Given the description of an element on the screen output the (x, y) to click on. 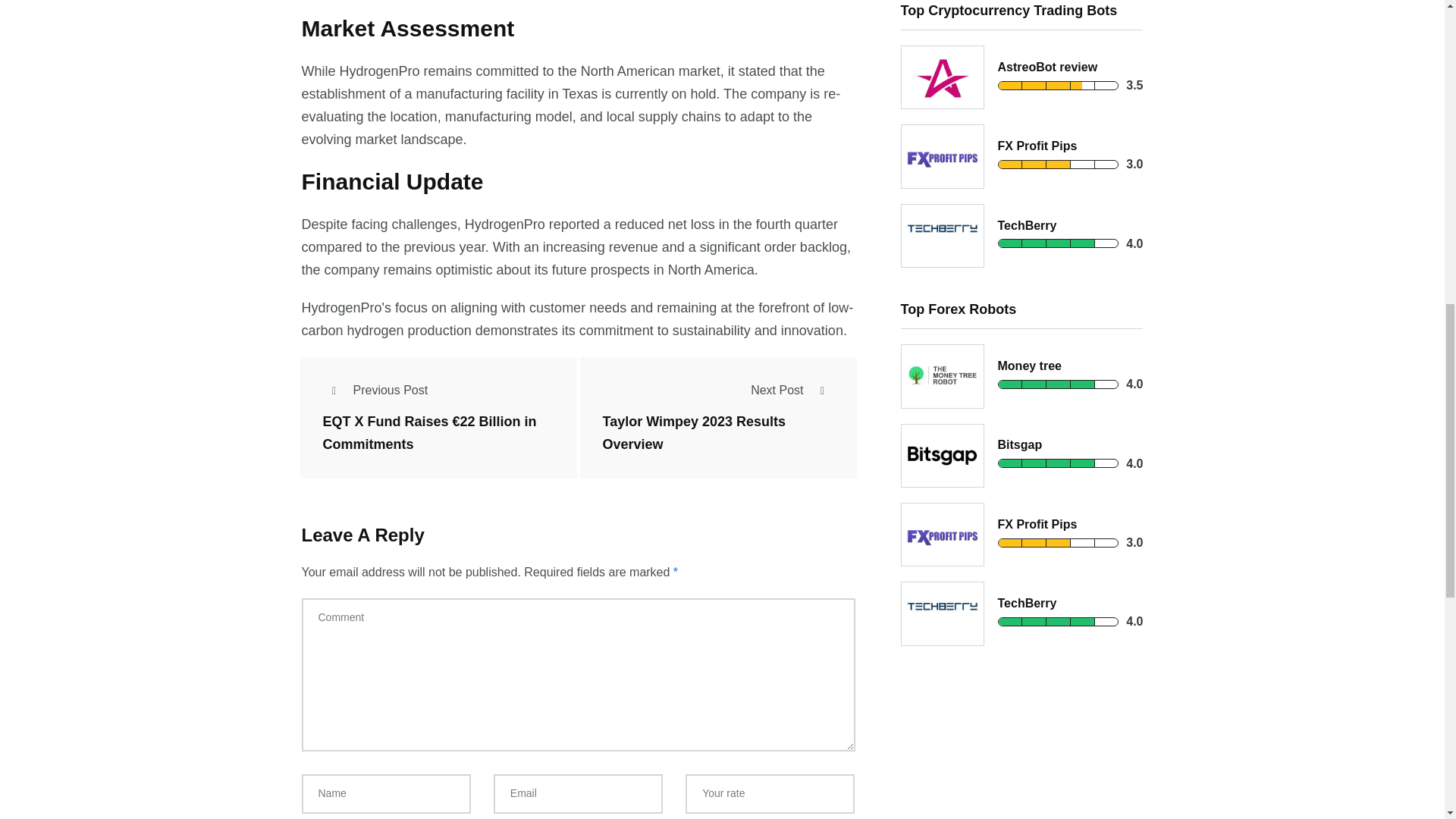
Next Post (791, 390)
Money tree (1029, 365)
Taylor Wimpey 2023 Results Overview (694, 433)
TechBerry (1027, 225)
FX Profit Pips (1037, 145)
AstreoBot review (1047, 66)
Previous Post (375, 390)
